Given the description of an element on the screen output the (x, y) to click on. 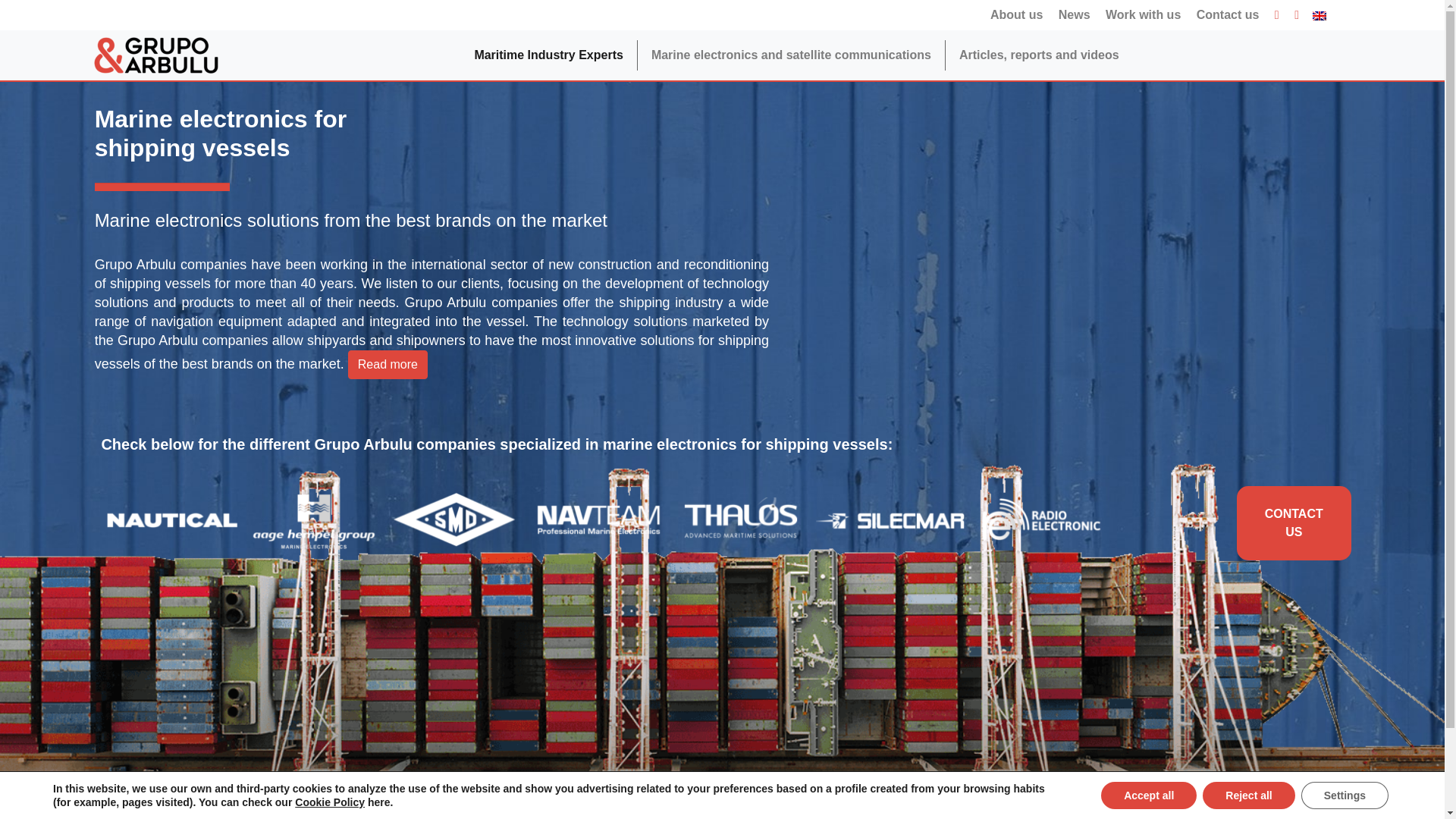
About us (1016, 15)
Read more (387, 364)
Maritime Industry Experts (547, 55)
Marine electronics and satellite communications (791, 55)
Work with us (1142, 15)
About us (1016, 15)
Work with us (1142, 15)
News (1074, 15)
CONTACT US (1293, 523)
Contact us (1228, 15)
News (1074, 15)
Maritime Industry Experts (547, 55)
Contact us (1228, 15)
Articles, reports and videos (1039, 55)
